Given the description of an element on the screen output the (x, y) to click on. 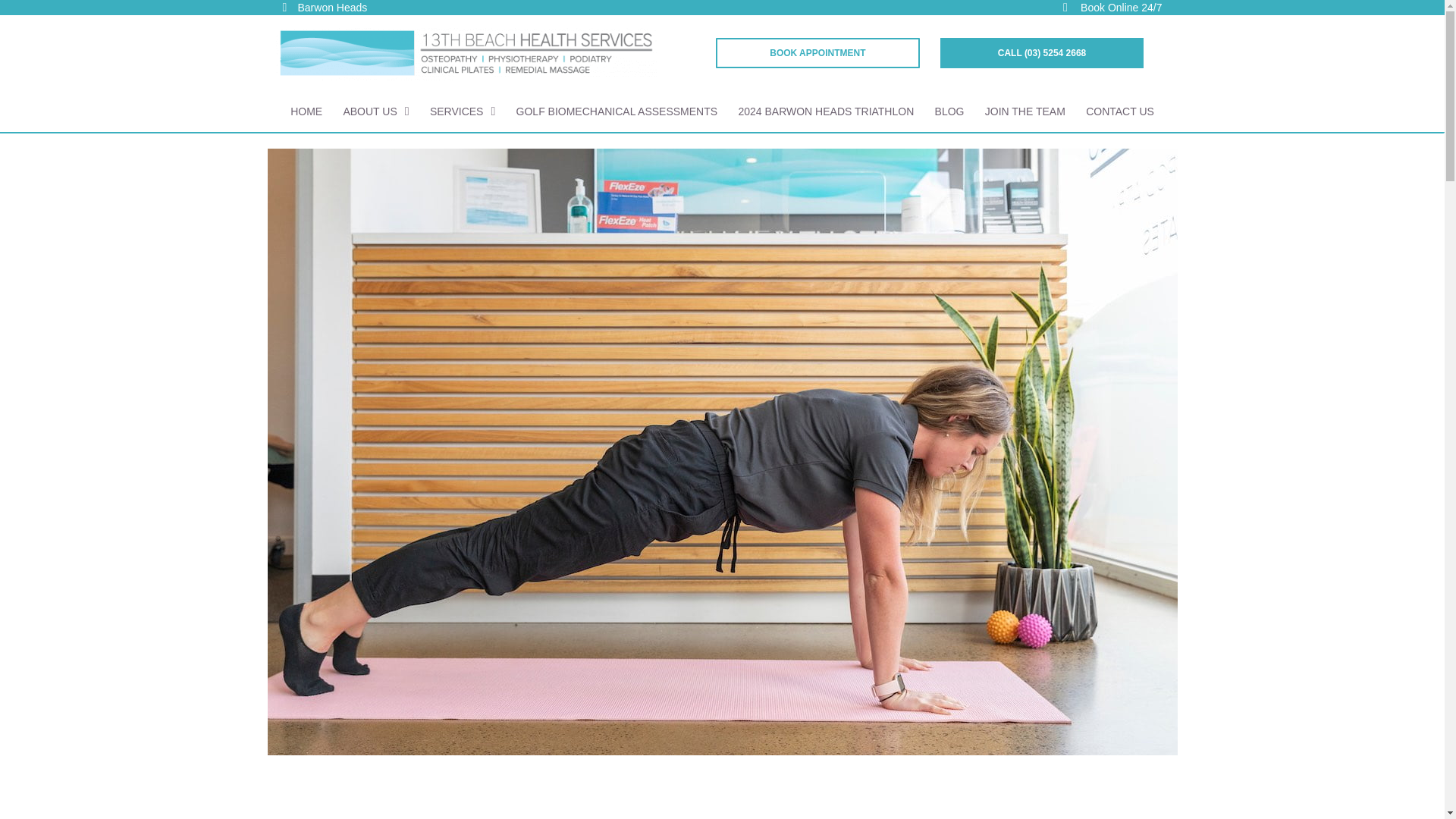
BLOG (949, 111)
GOLF BIOMECHANICAL ASSESSMENTS (616, 111)
CONTACT US (1119, 111)
JOIN THE TEAM (1024, 111)
Mat Pilates Marcus Hill (722, 802)
2024 BARWON HEADS TRIATHLON (825, 111)
BOOK APPOINTMENT (818, 52)
Barwon Heads (434, 7)
SERVICES (462, 111)
HOME (306, 111)
ABOUT US (375, 111)
